Given the description of an element on the screen output the (x, y) to click on. 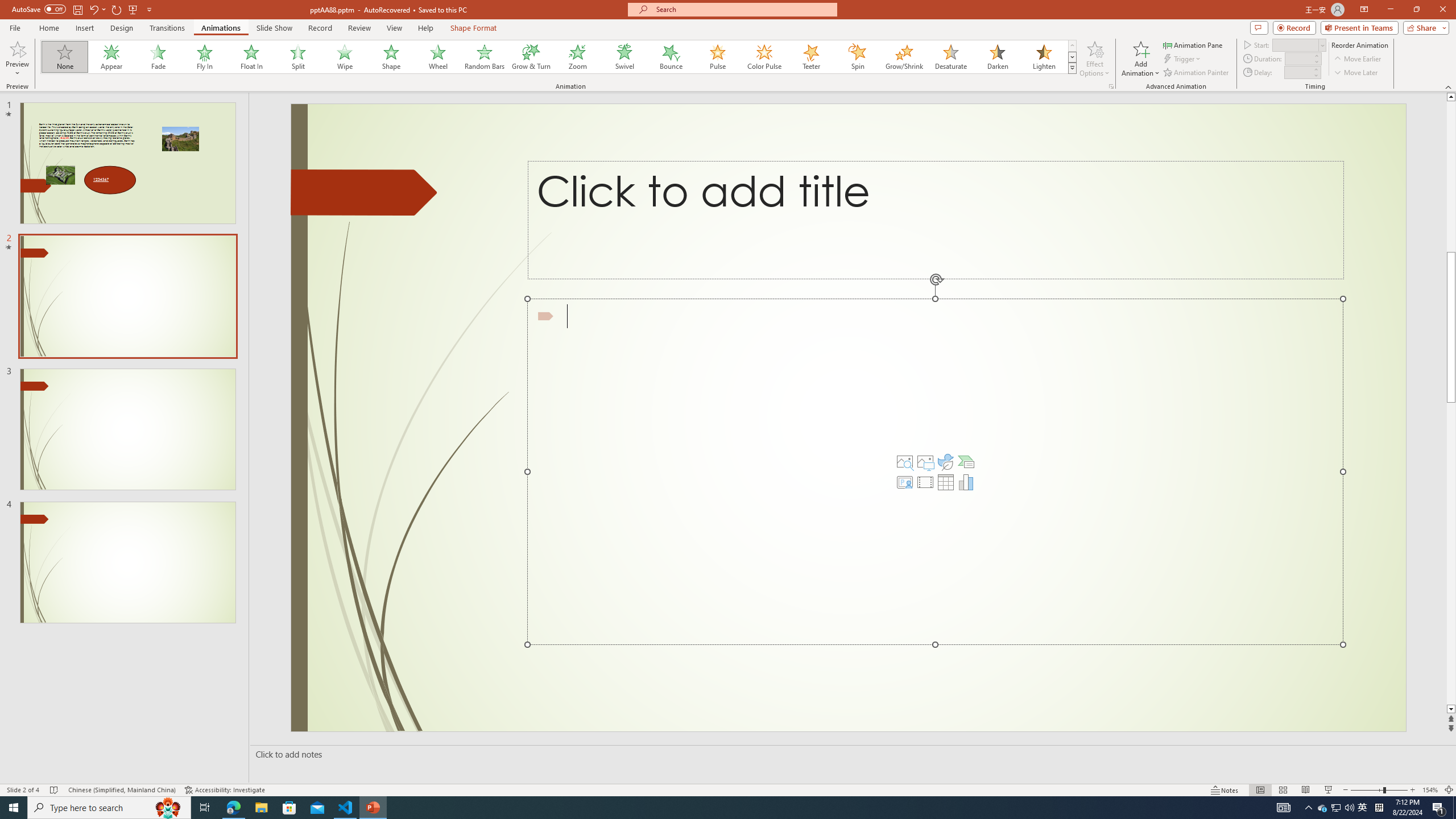
Content Placeholder (934, 471)
Float In (251, 56)
